Given the description of an element on the screen output the (x, y) to click on. 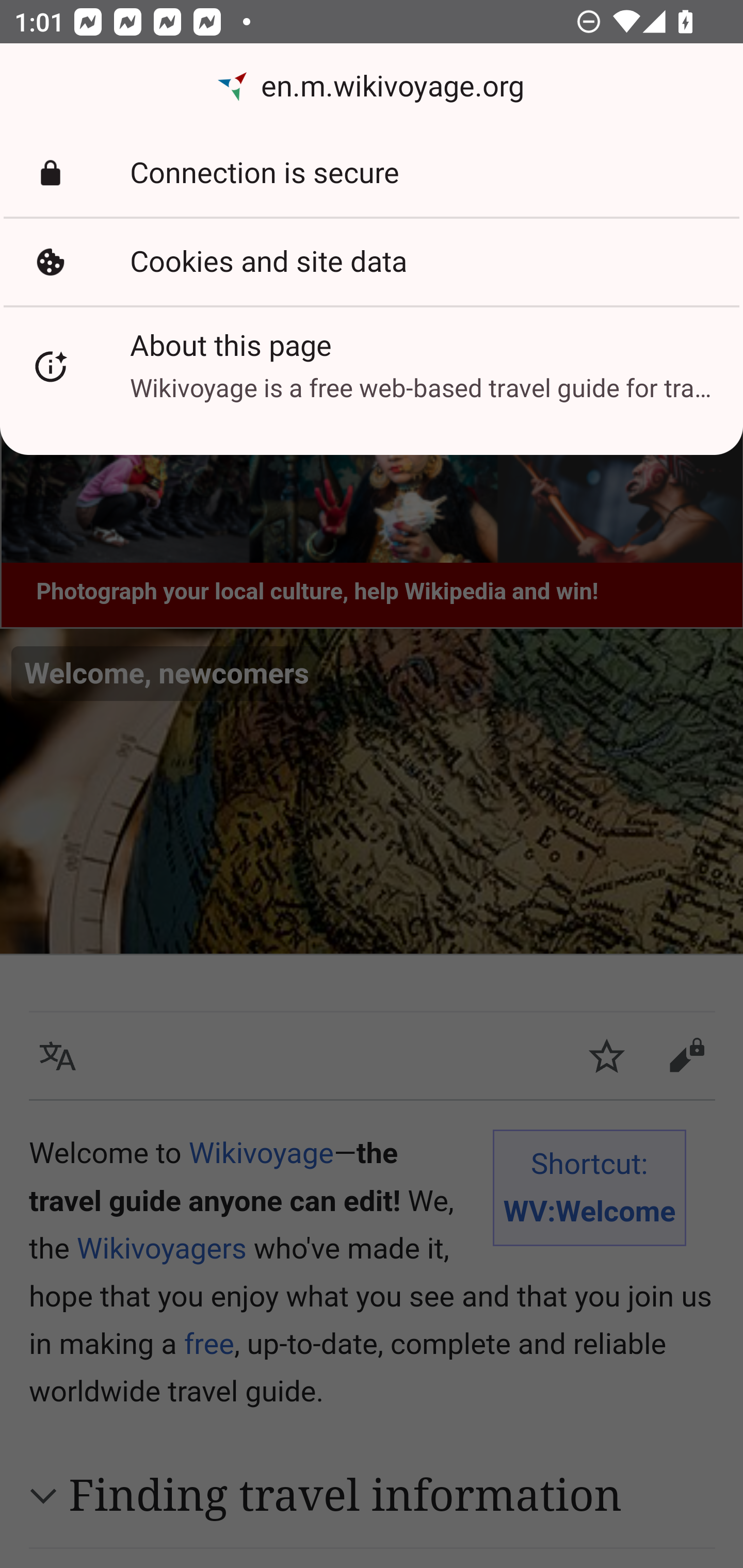
en.m.wikivoyage.org (371, 86)
Connection is secure (371, 173)
Cookies and site data (371, 261)
